Given the description of an element on the screen output the (x, y) to click on. 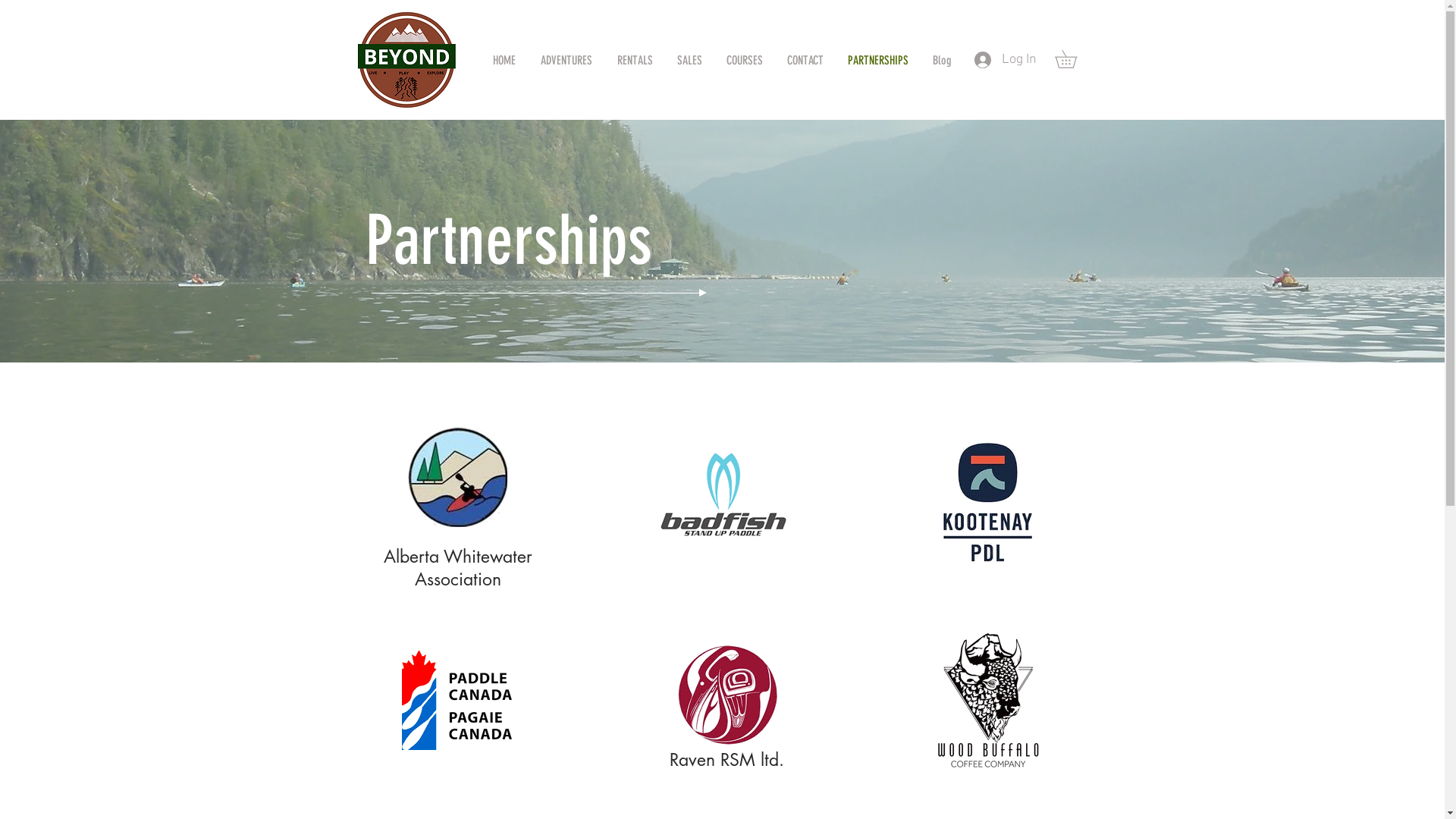
0 Element type: text (1073, 59)
RENTALS Element type: text (635, 53)
ADVENTURES Element type: text (565, 53)
HOME Element type: text (504, 53)
CONTACT Element type: text (805, 53)
Log In Element type: text (1004, 59)
COURSES Element type: text (744, 53)
PARTNERSHIPS Element type: text (877, 53)
SALES Element type: text (688, 53)
Blog Element type: text (941, 53)
